Given the description of an element on the screen output the (x, y) to click on. 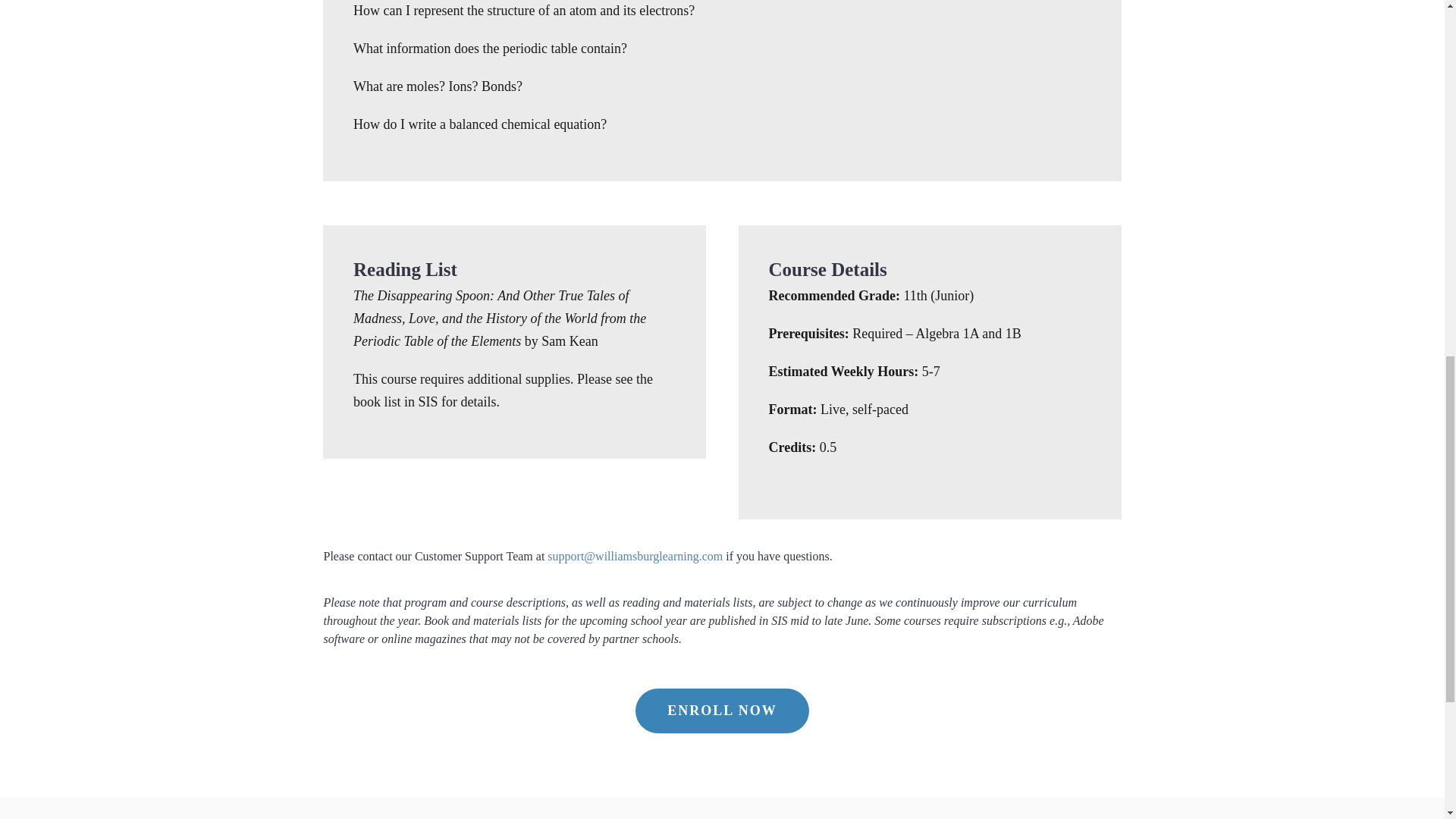
ENROLL NOW (722, 721)
